Given the description of an element on the screen output the (x, y) to click on. 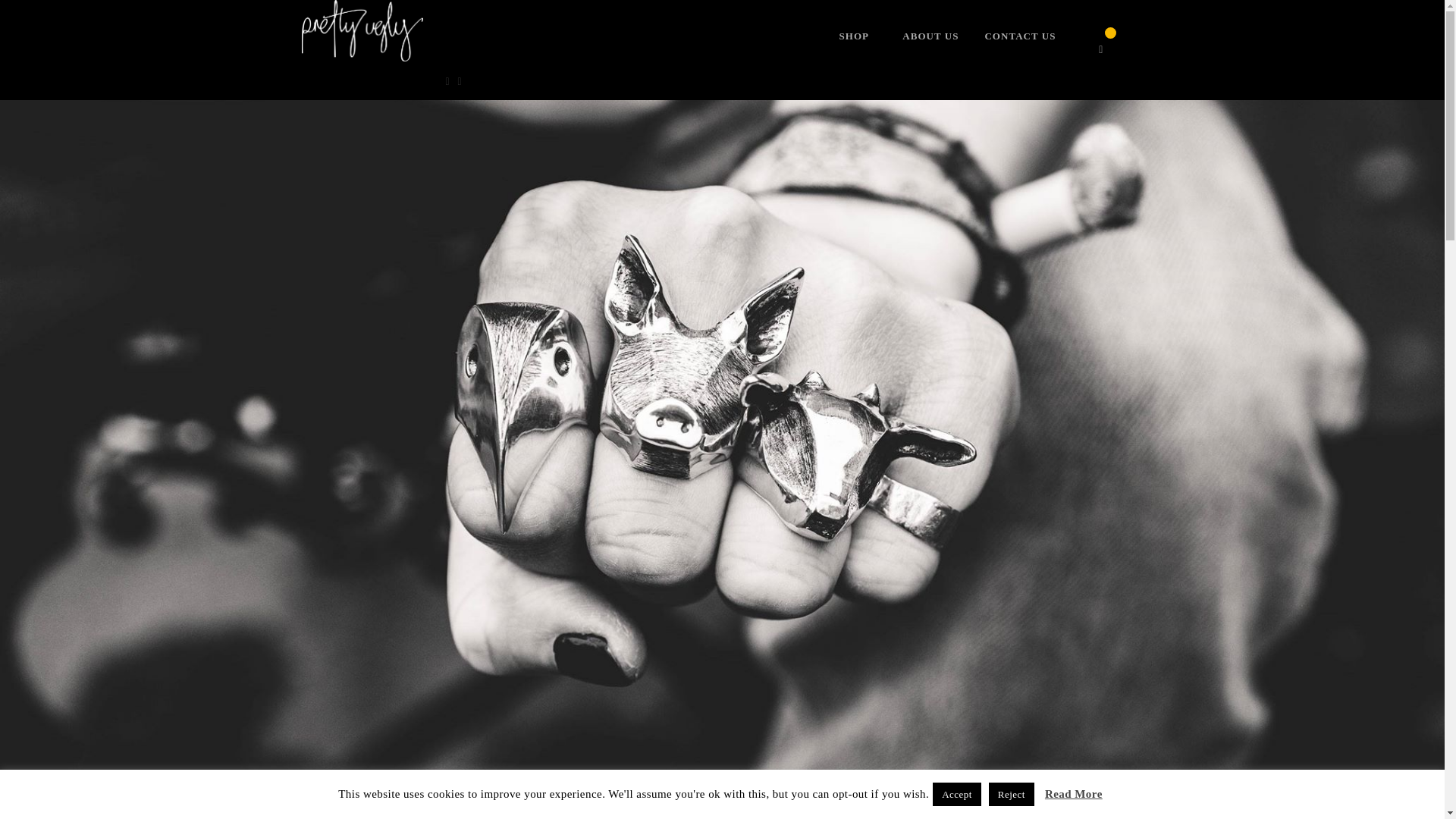
SHOP (853, 36)
CONTACT US (1019, 36)
ABOUT US (930, 36)
